Given the description of an element on the screen output the (x, y) to click on. 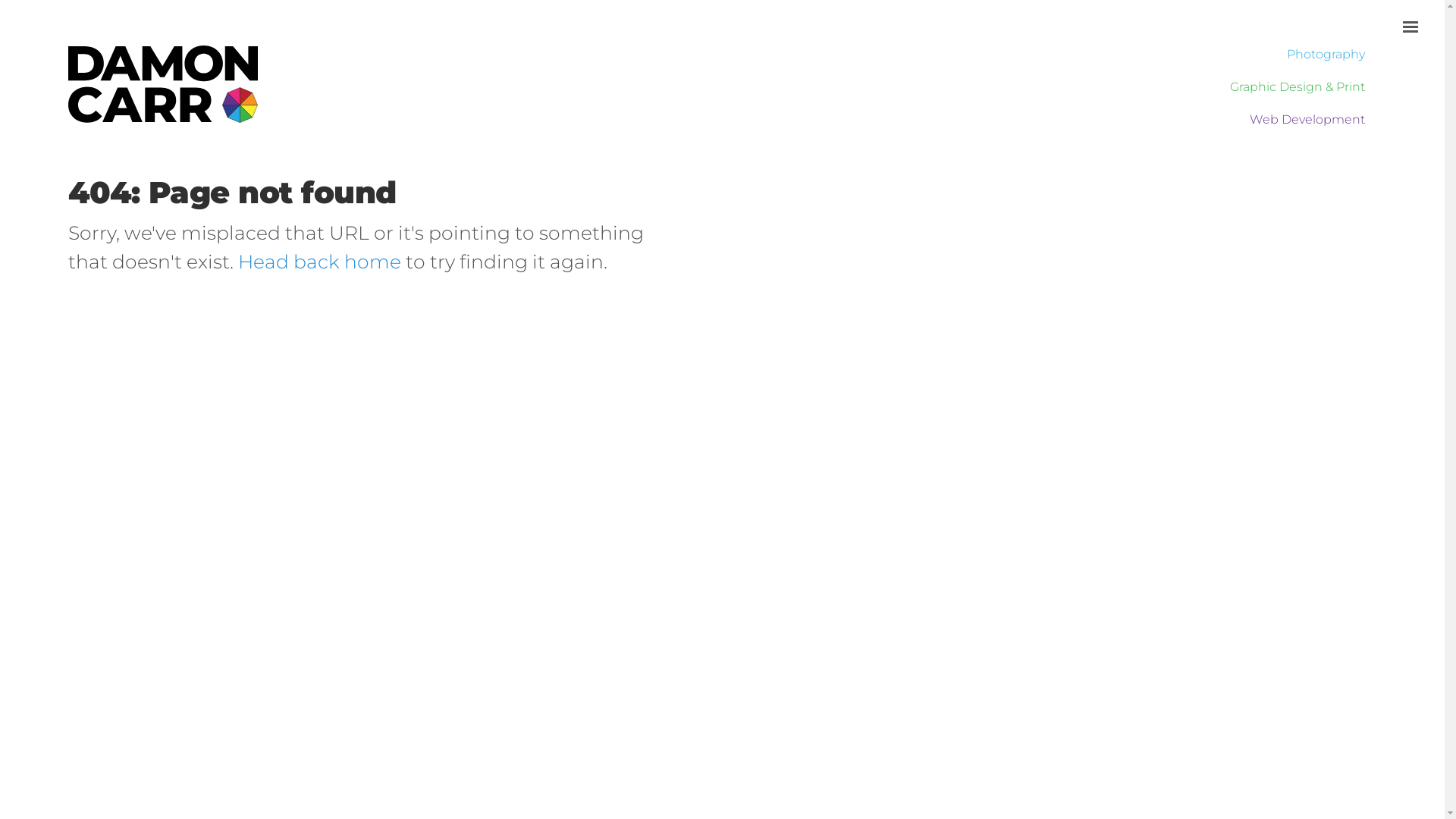
Home Element type: hover (162, 111)
Head back home Element type: text (319, 261)
Photography Element type: text (1289, 57)
Graphic Design & Print Element type: text (1289, 90)
Web Development Element type: text (1289, 122)
